Given the description of an element on the screen output the (x, y) to click on. 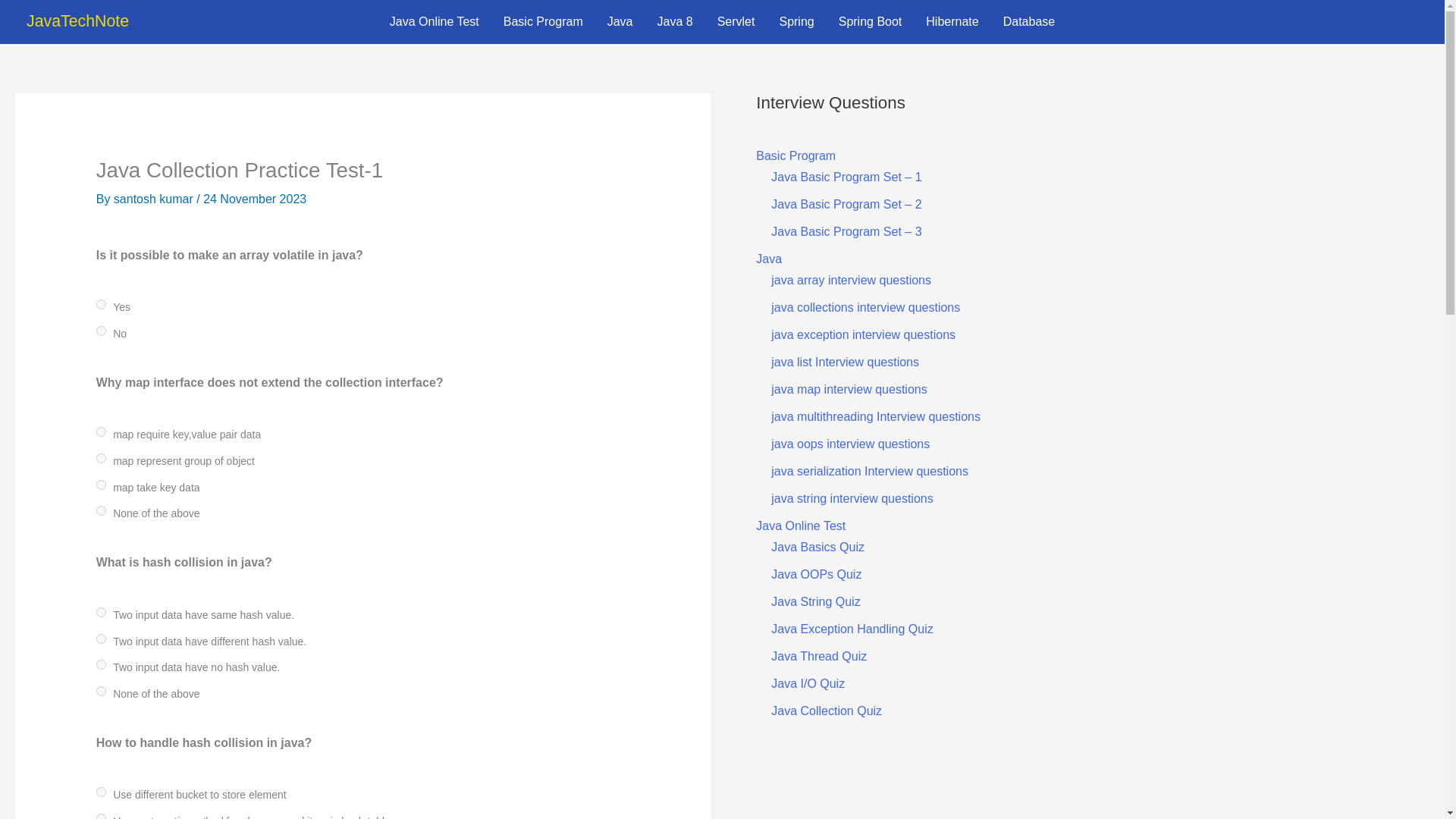
2 (101, 484)
Hibernate (952, 21)
Spring Boot (870, 21)
1 (101, 816)
Spring (796, 21)
0 (101, 431)
JavaTechNote (77, 21)
3 (101, 691)
Servlet (735, 21)
3 (101, 510)
0 (101, 612)
Java 8 (674, 21)
Java (620, 21)
2 (101, 664)
View all posts by santosh kumar (154, 198)
